Given the description of an element on the screen output the (x, y) to click on. 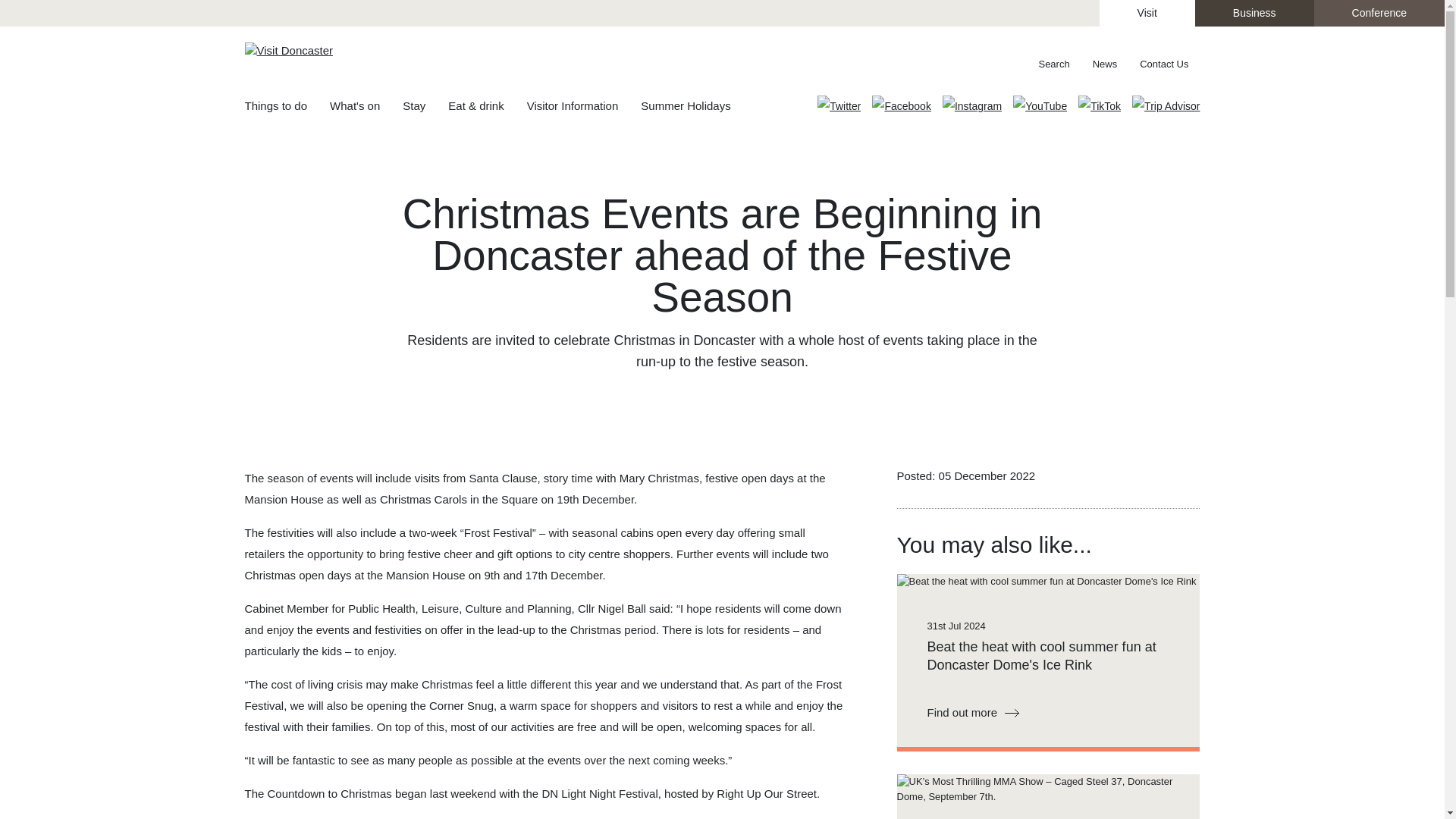
Stay (425, 107)
Business (1254, 13)
News (1105, 64)
Things to do (287, 107)
Contact Us (1163, 64)
Search (1046, 64)
What's on (366, 107)
Visit (1147, 13)
